Given the description of an element on the screen output the (x, y) to click on. 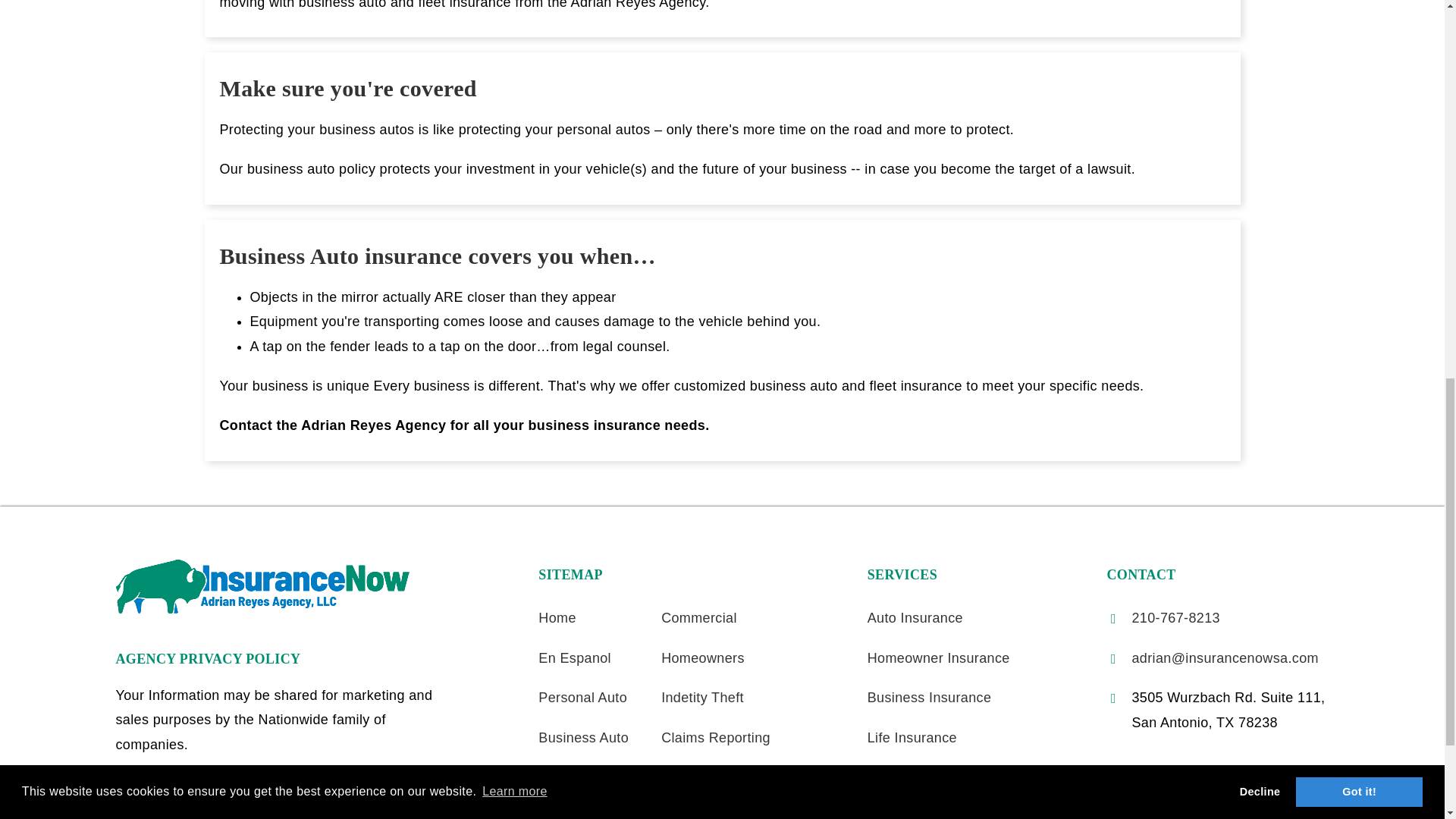
Claims Reporting (715, 737)
Personal Auto (582, 697)
Auto Insurance (914, 617)
Business Auto (583, 737)
En Espanol (574, 657)
Life Insurance (911, 737)
Business Insurance (929, 697)
Homeowner Insurance (938, 657)
Home (556, 617)
Indetity Theft (702, 697)
Homeowners (702, 657)
210-767-8213 (1175, 617)
Commercial (698, 617)
